Given the description of an element on the screen output the (x, y) to click on. 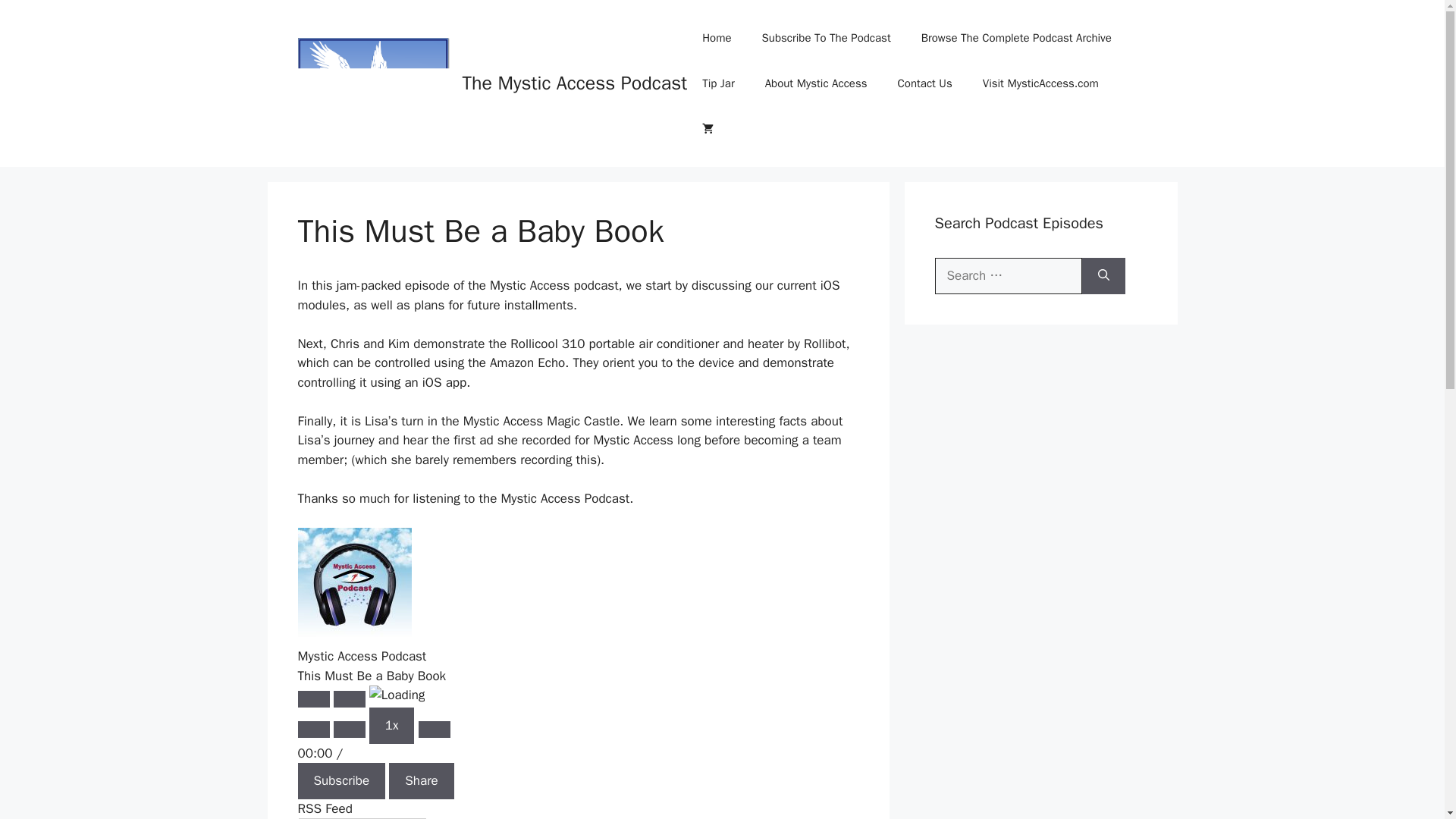
Share (420, 780)
Contact Us (925, 83)
View your shopping cart (708, 128)
Home (716, 37)
Play Episode (313, 699)
Rewind 10 seconds (349, 729)
Subscribe (341, 780)
Playback Speed (391, 725)
Mystic Access Podcast (353, 584)
Subscribe (341, 780)
